Given the description of an element on the screen output the (x, y) to click on. 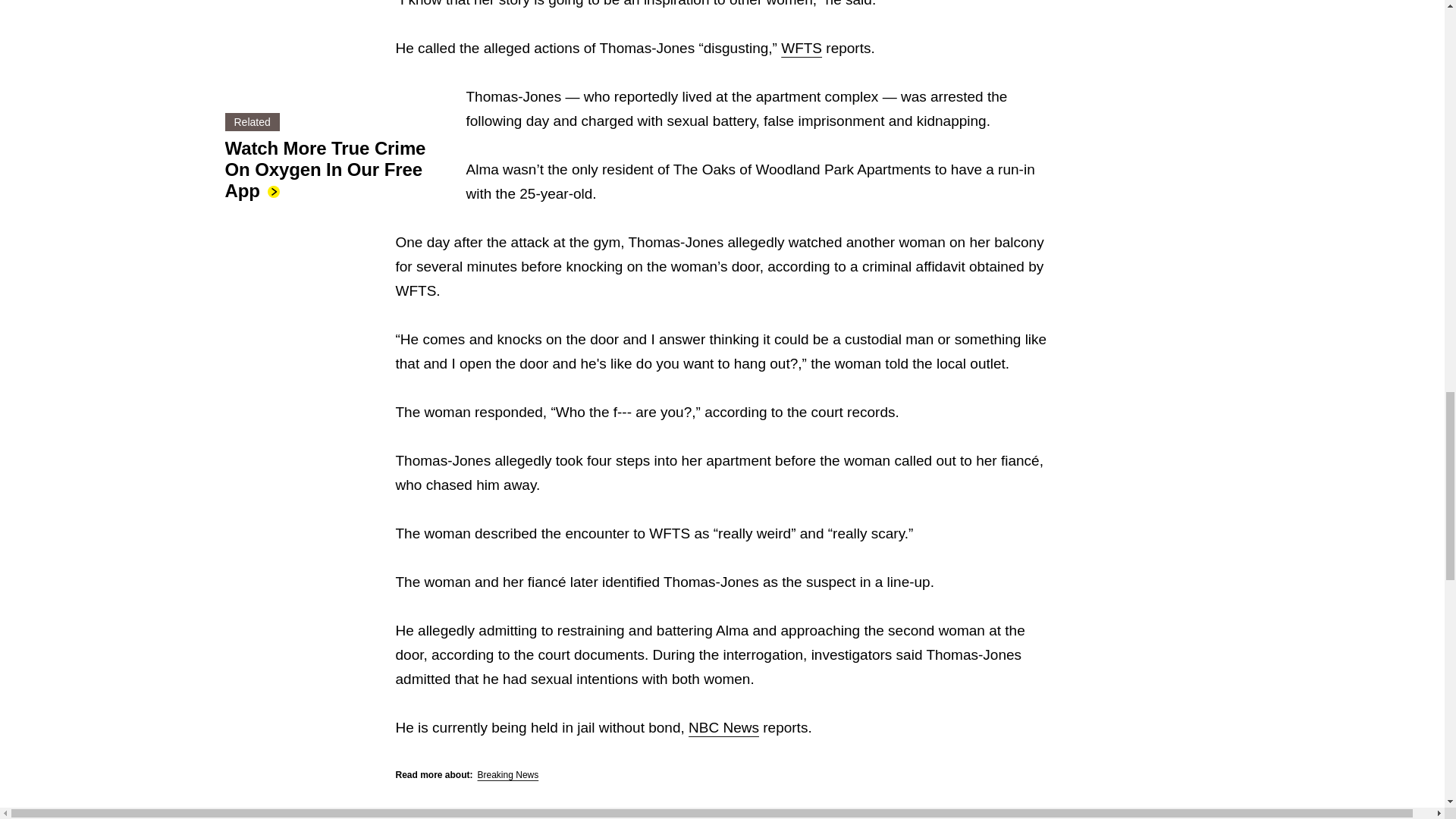
Breaking News (507, 774)
NBC News (723, 727)
WFTS (801, 48)
